Given the description of an element on the screen output the (x, y) to click on. 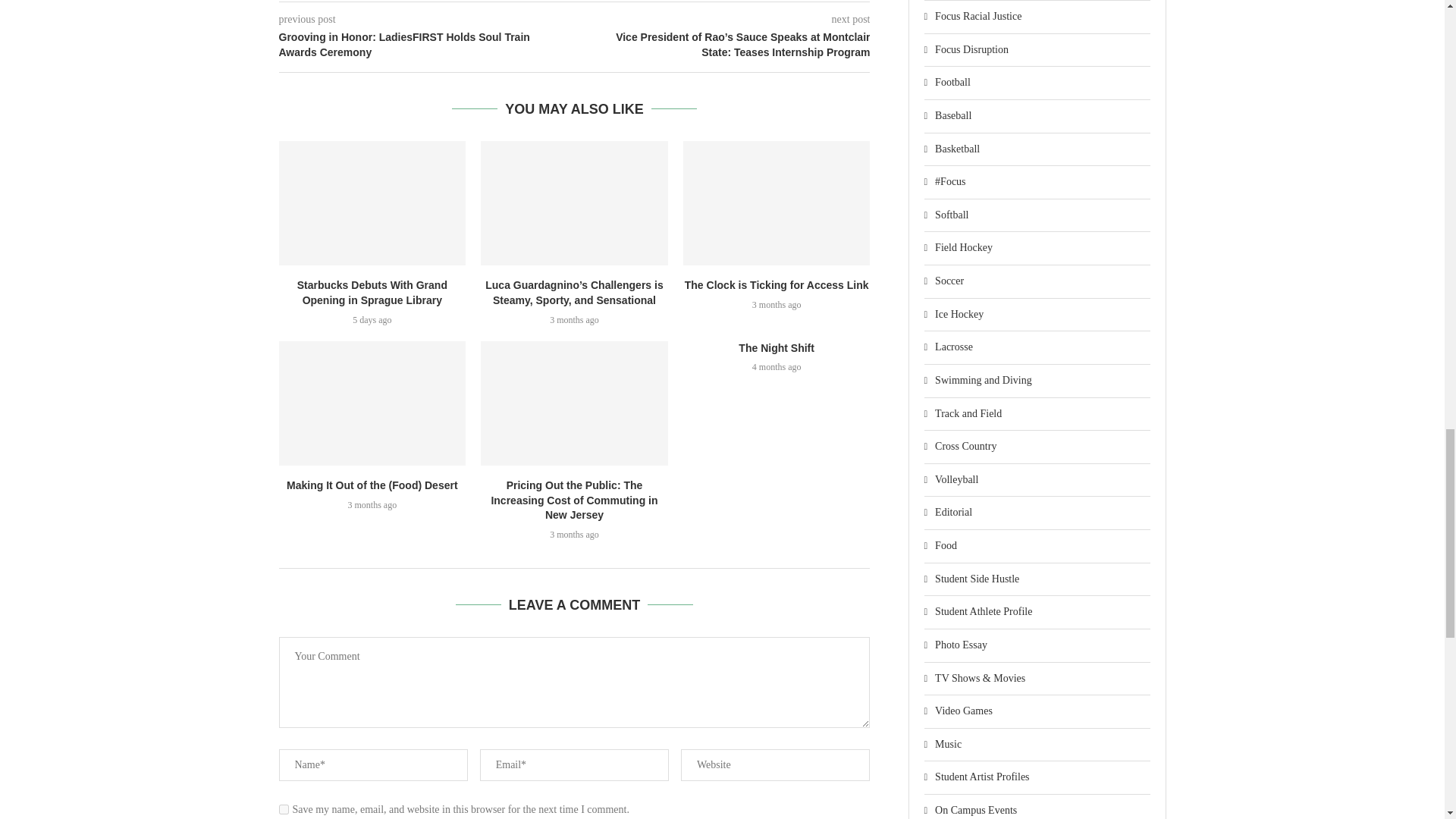
The Clock is Ticking for Access Link (776, 202)
Starbucks Debuts With Grand Opening in Sprague Library (372, 202)
yes (283, 809)
